Given the description of an element on the screen output the (x, y) to click on. 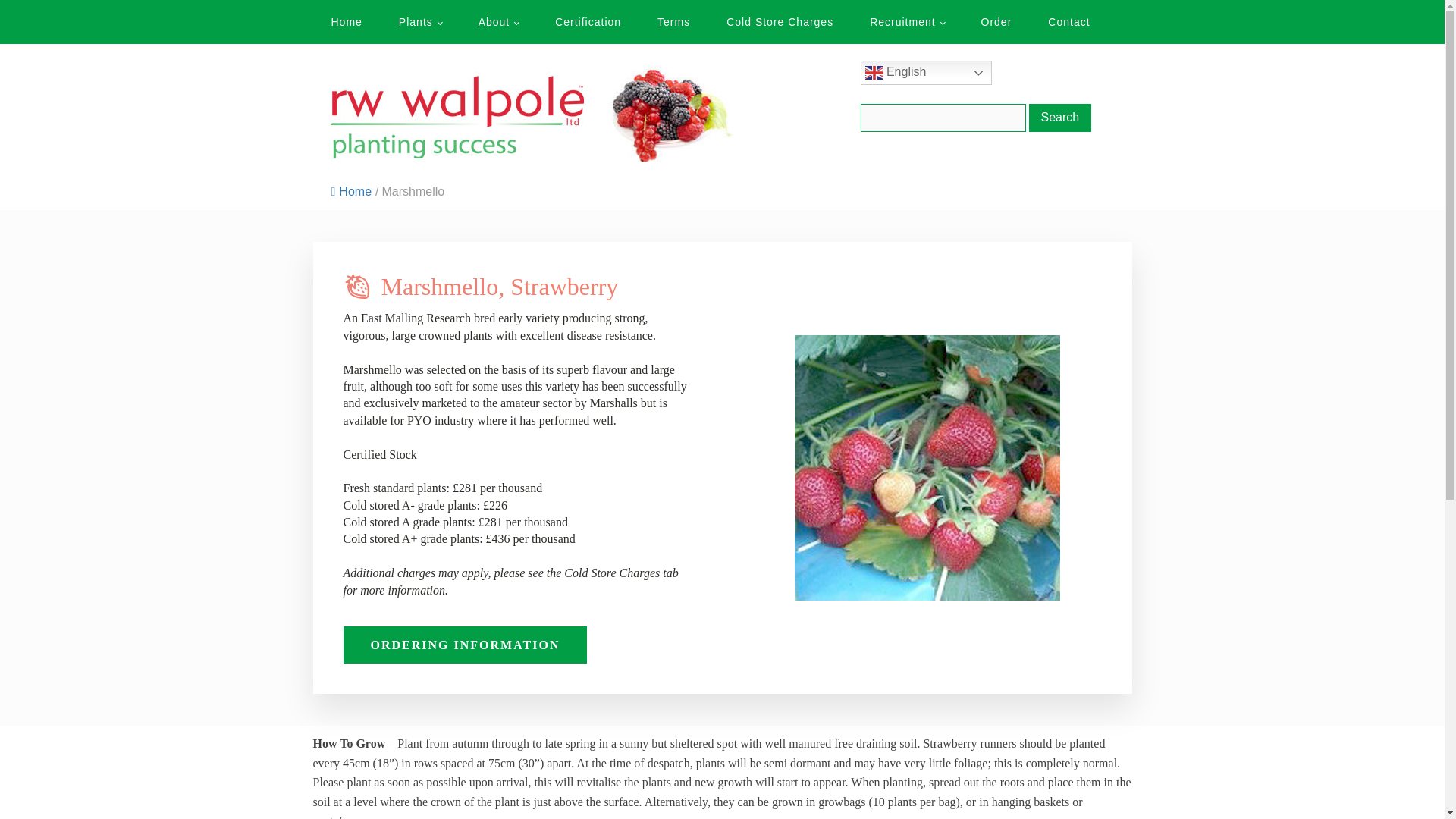
Plants (420, 22)
Home (346, 22)
Search (1058, 117)
